Given the description of an element on the screen output the (x, y) to click on. 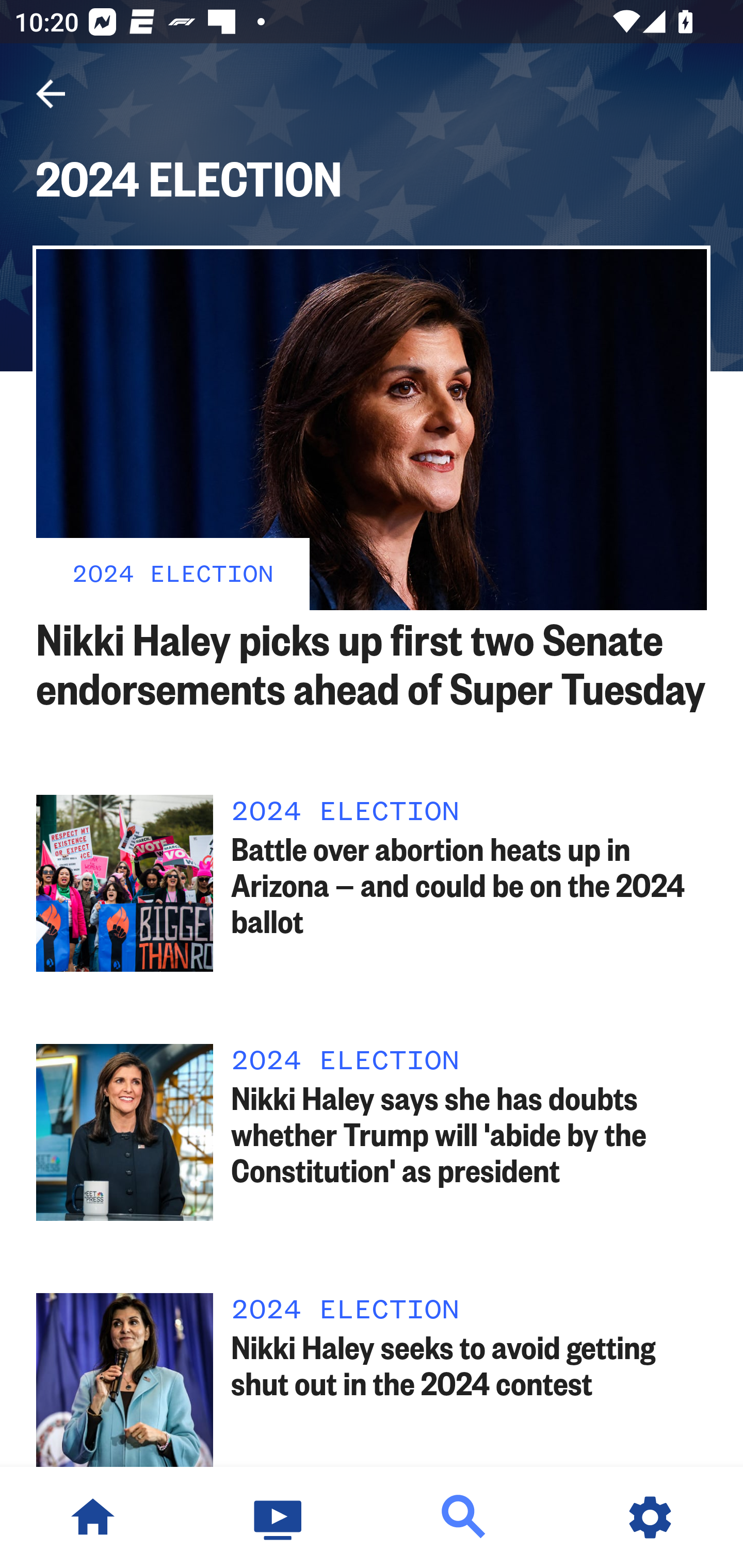
Navigate up (50, 93)
NBC News Home (92, 1517)
Watch (278, 1517)
Settings (650, 1517)
